Given the description of an element on the screen output the (x, y) to click on. 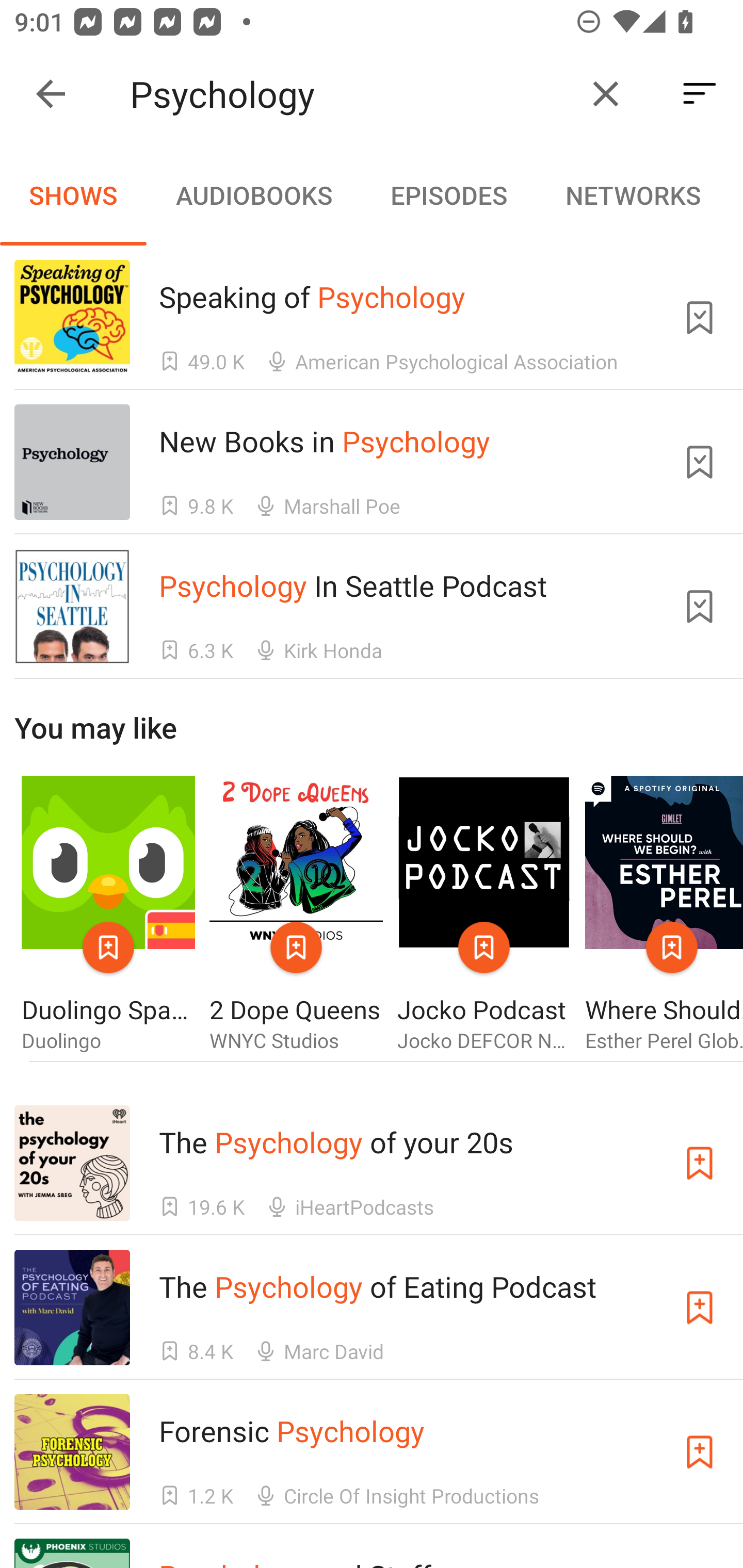
Collapse (50, 93)
Clear query (605, 93)
Sort By (699, 93)
Psychology (349, 94)
SHOWS (73, 195)
AUDIOBOOKS (253, 195)
EPISODES (448, 195)
NETWORKS (632, 195)
Unsubscribe (699, 317)
Unsubscribe (699, 462)
Unsubscribe (699, 606)
Duolingo Spanish Podcast Duolingo (107, 914)
2 Dope Queens WNYC Studios (295, 914)
Jocko Podcast Jocko DEFCOR Network (483, 914)
Subscribe (699, 1163)
Subscribe (699, 1307)
Subscribe (699, 1451)
